Given the description of an element on the screen output the (x, y) to click on. 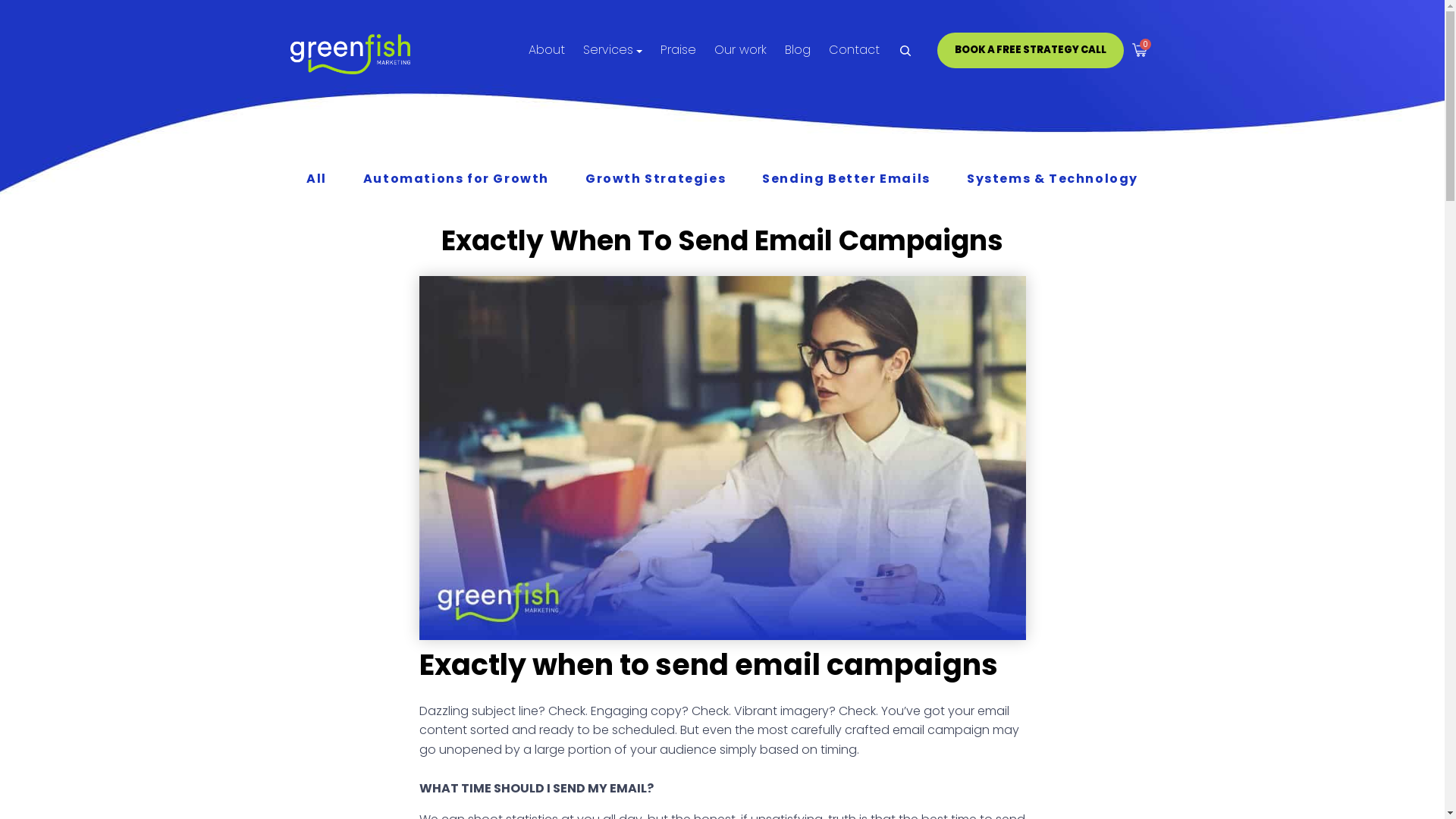
Praise Element type: text (678, 50)
Systems & Technology Element type: text (1052, 178)
0 Element type: text (1138, 49)
Sending Better Emails Element type: text (845, 178)
Automations for Growth Element type: text (456, 178)
Growth Strategies Element type: text (655, 178)
Our work Element type: text (740, 50)
Blog Element type: text (797, 50)
About Element type: text (546, 50)
All Element type: text (316, 178)
BOOK A FREE STRATEGY CALL Element type: text (1030, 50)
Contact Element type: text (853, 50)
